Given the description of an element on the screen output the (x, y) to click on. 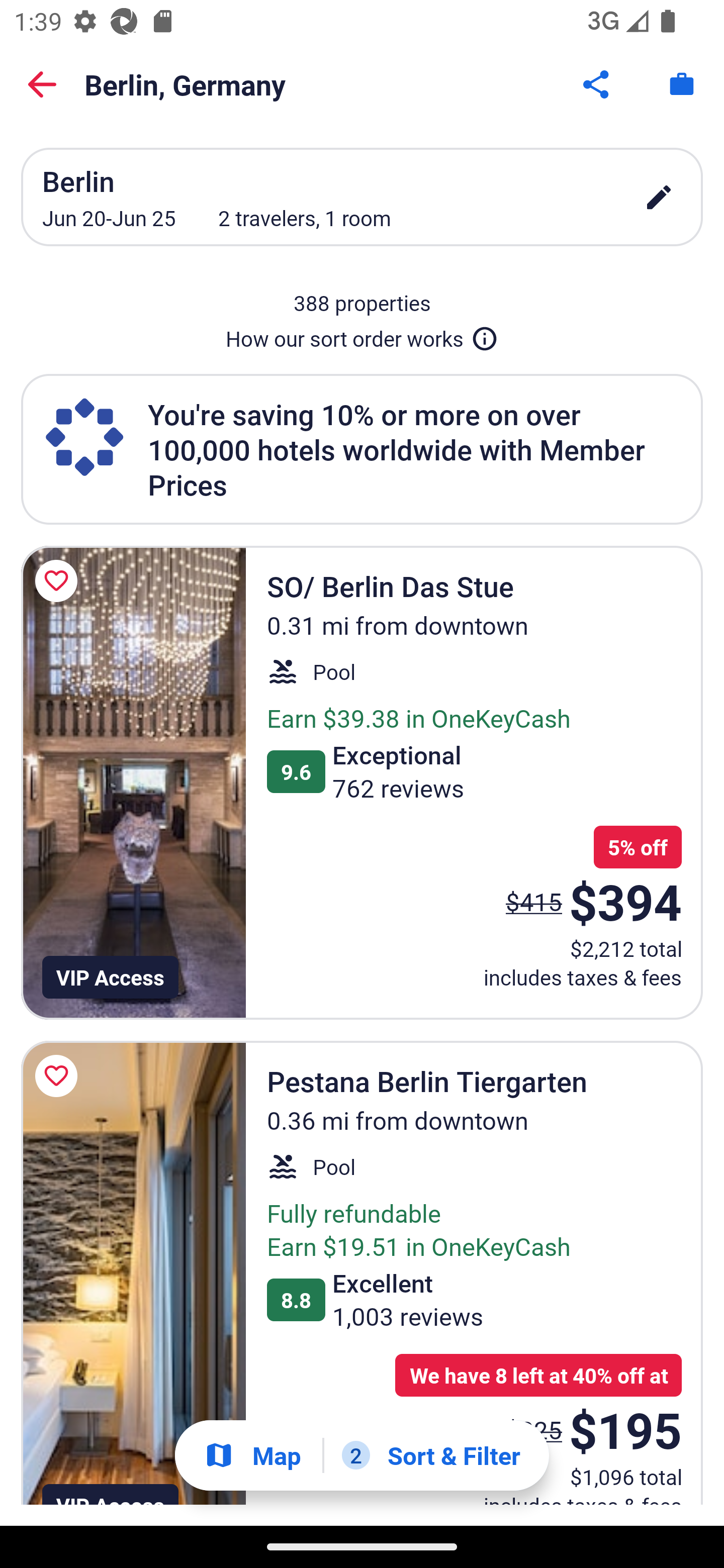
Back (42, 84)
Share Button (597, 84)
Trips. Button (681, 84)
Berlin Jun 20-Jun 25 2 travelers, 1 room edit (361, 196)
How our sort order works (361, 334)
Save SO/ Berlin Das Stue to a trip (59, 580)
SO/ Berlin Das Stue (133, 782)
$415 The price was $415 (533, 901)
Save Pestana Berlin Tiergarten to a trip (59, 1075)
Pestana Berlin Tiergarten (133, 1273)
2 Sort & Filter 2 Filters applied. Filters Button (430, 1455)
Show map Map Show map Button (252, 1455)
